Given the description of an element on the screen output the (x, y) to click on. 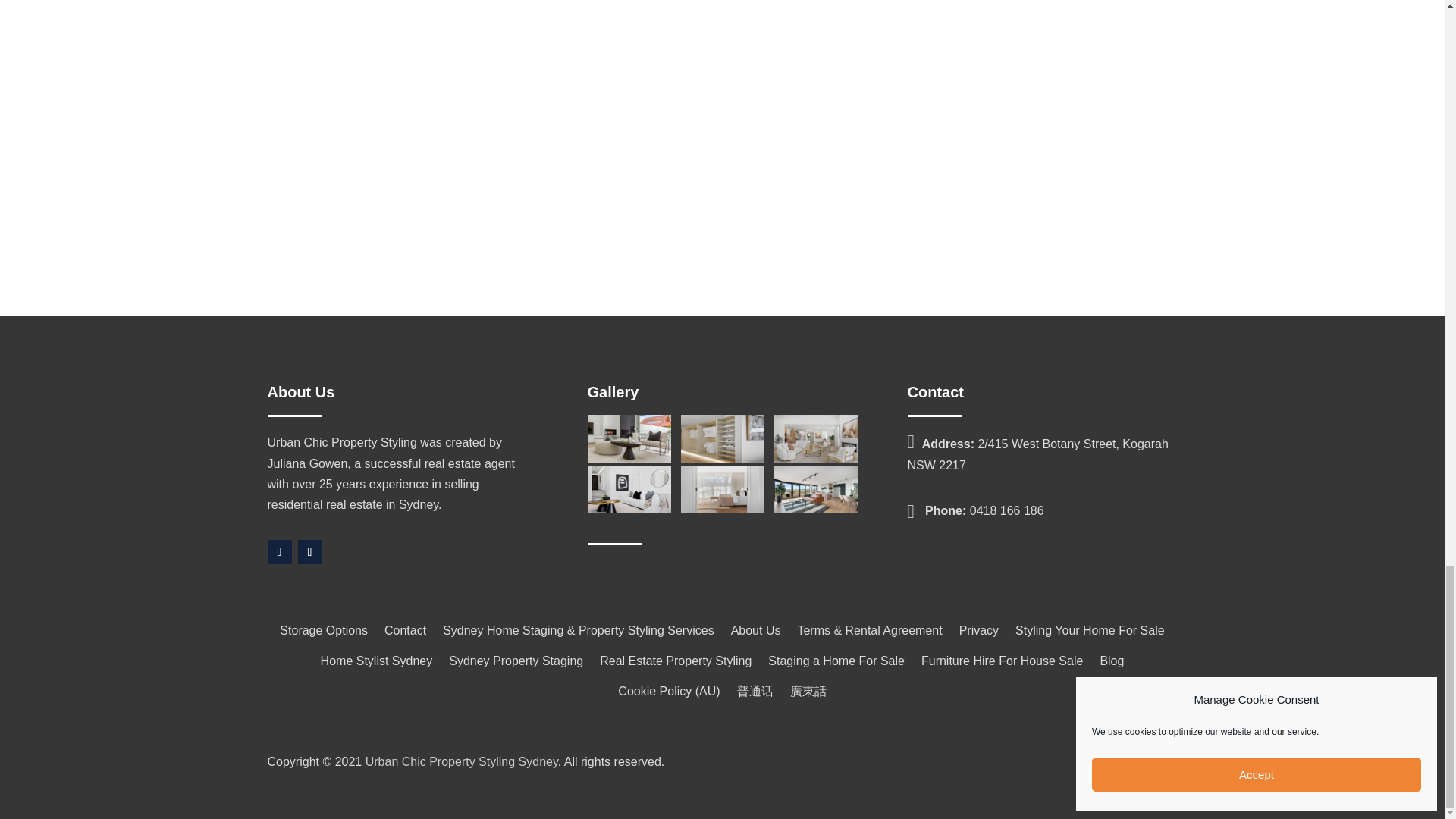
Follow on Instagram (309, 551)
Follow on Facebook (278, 551)
3P2A0226 (816, 489)
